Given the description of an element on the screen output the (x, y) to click on. 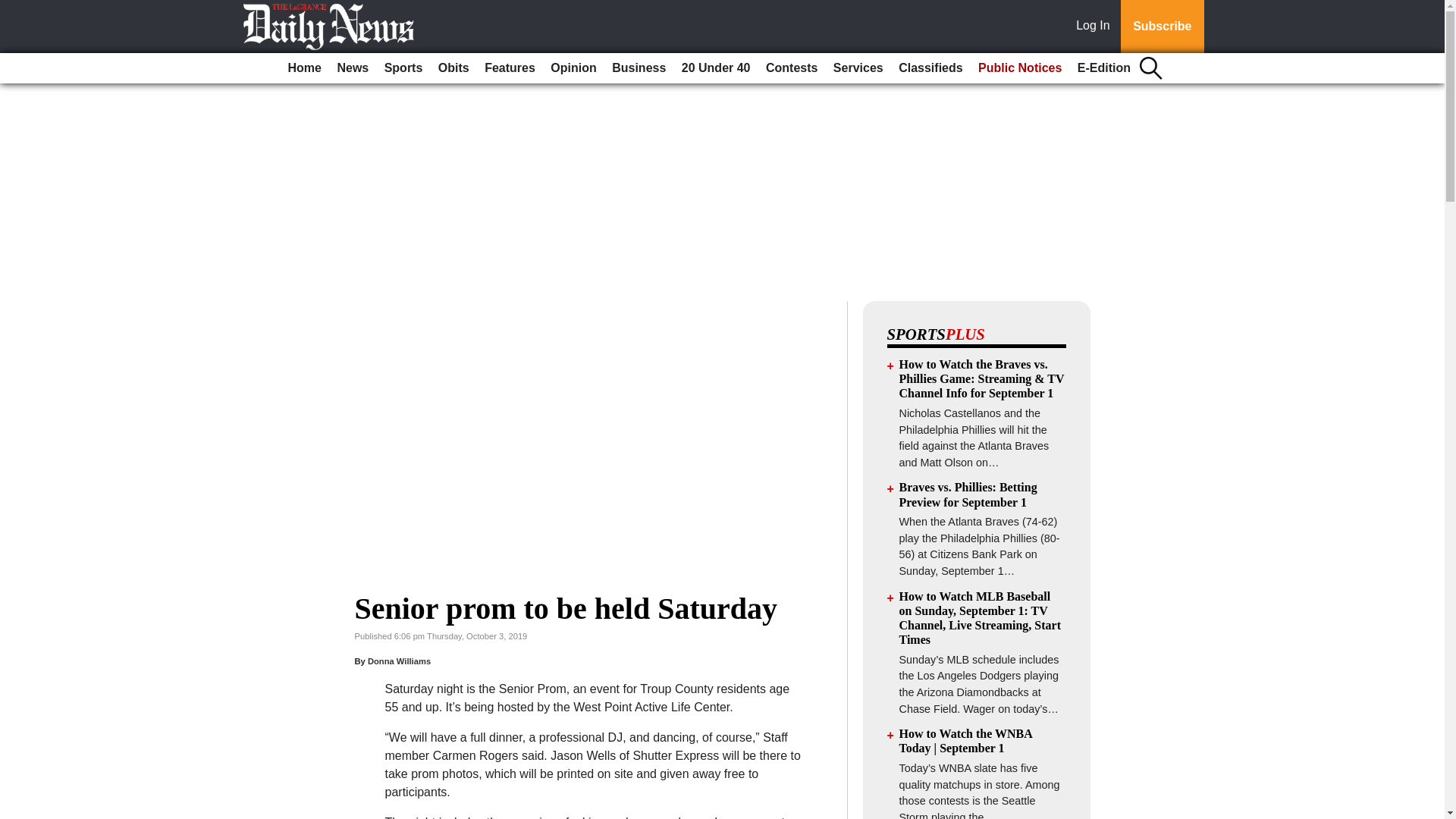
Classifieds (930, 68)
Subscribe (1162, 26)
Log In (1095, 26)
Contests (792, 68)
Donna Williams (399, 660)
Obits (454, 68)
Home (304, 68)
Services (858, 68)
Features (510, 68)
Braves vs. Phillies: Betting Preview for September 1 (967, 493)
